Given the description of an element on the screen output the (x, y) to click on. 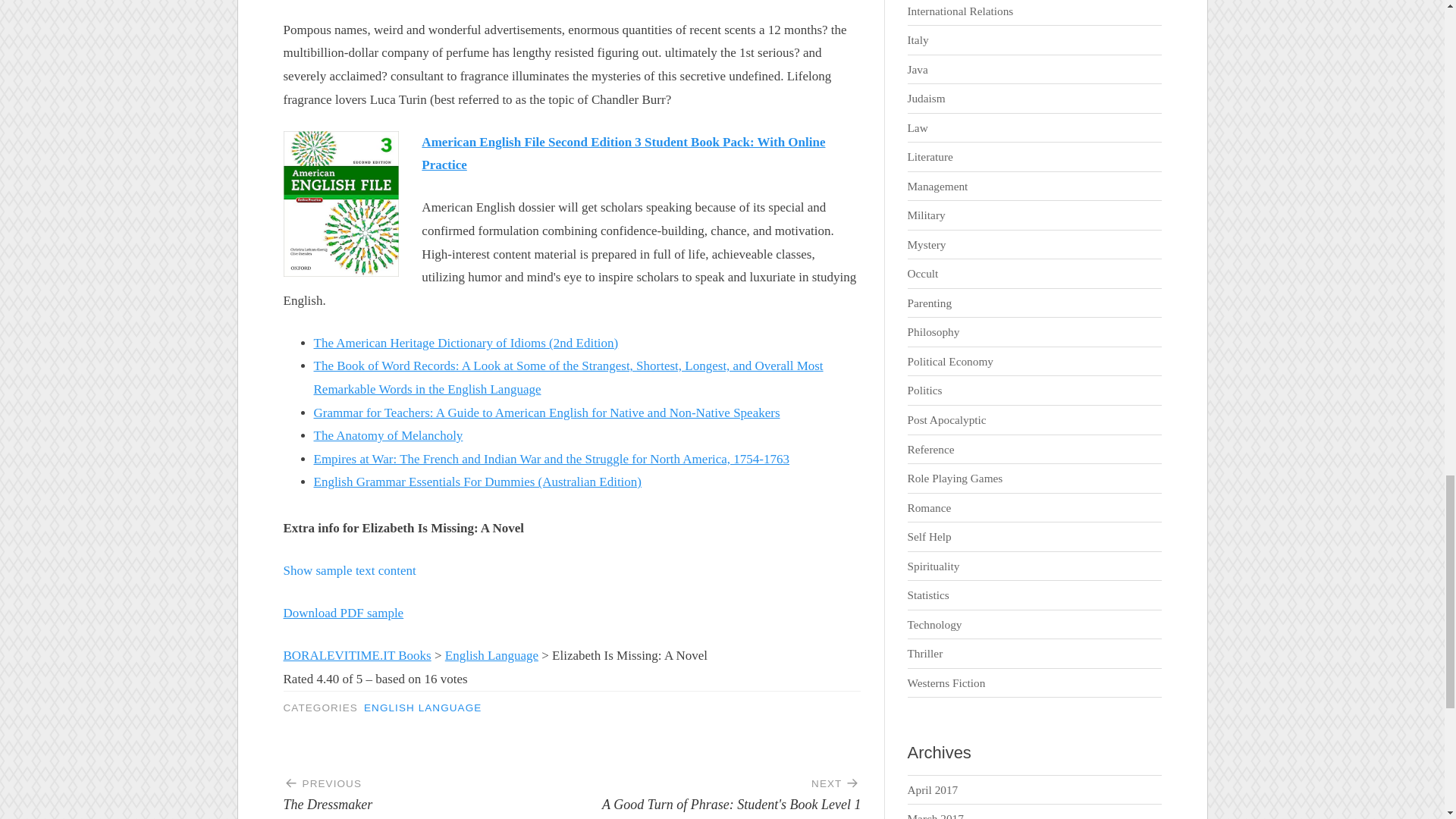
English Language (491, 655)
BORALEVITIME.IT Books (716, 788)
Go to BORALEVITIME.IT Books. (356, 655)
Download PDF sample (356, 655)
Show sample text content (343, 612)
Click to show sample text from this book (427, 788)
The Anatomy of Melancholy (349, 570)
Elizabeth Is Missing: A Novel (349, 570)
Go to the English Language category archives. (388, 435)
